Given the description of an element on the screen output the (x, y) to click on. 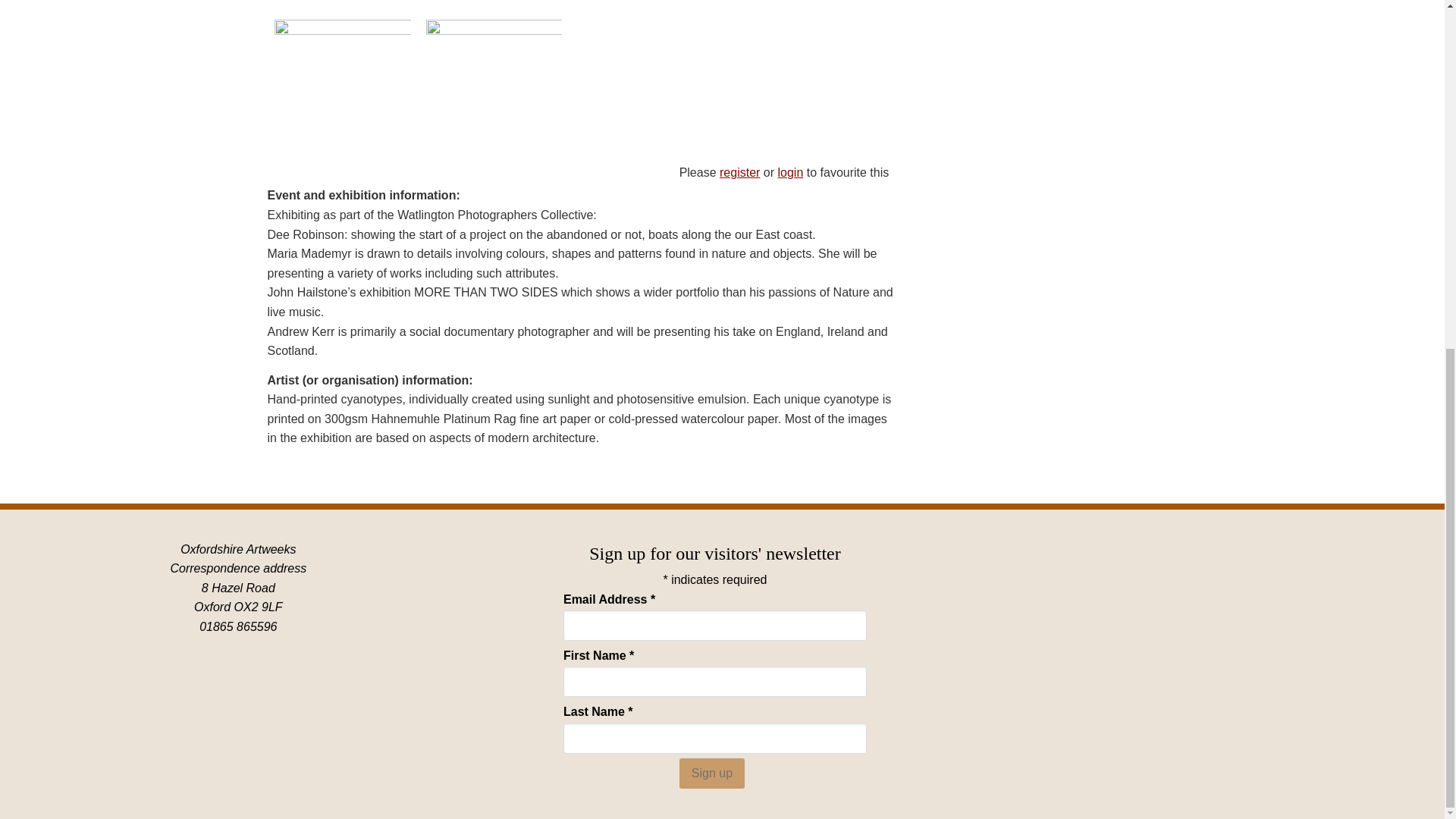
register (739, 172)
Sign up (711, 773)
login (790, 172)
